Given the description of an element on the screen output the (x, y) to click on. 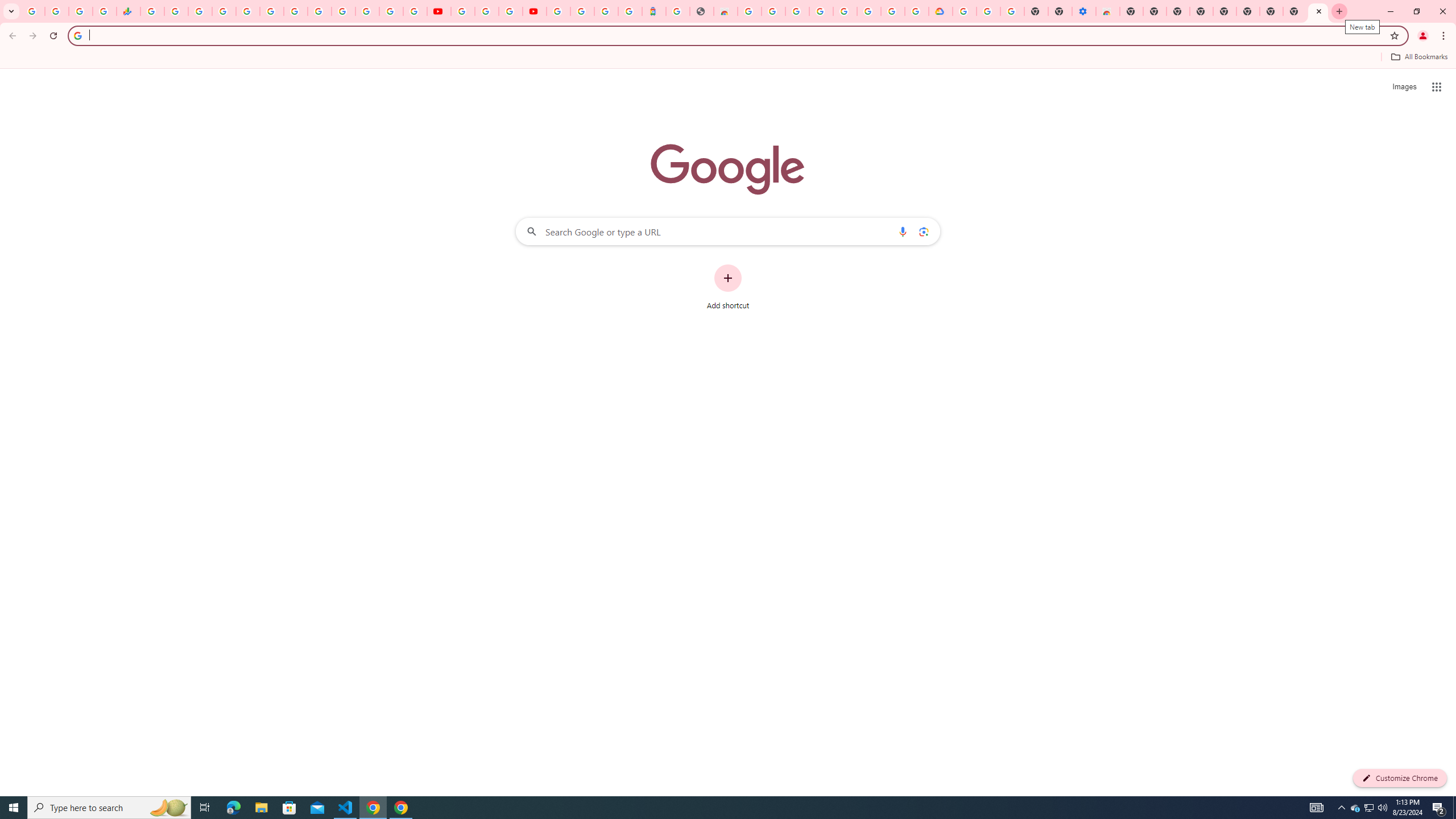
Search by image (922, 230)
Sign in - Google Accounts (343, 11)
YouTube (438, 11)
Search for Images  (1403, 87)
YouTube (319, 11)
Android TV Policies and Guidelines - Transparency Center (295, 11)
Add shortcut (727, 287)
